Given the description of an element on the screen output the (x, y) to click on. 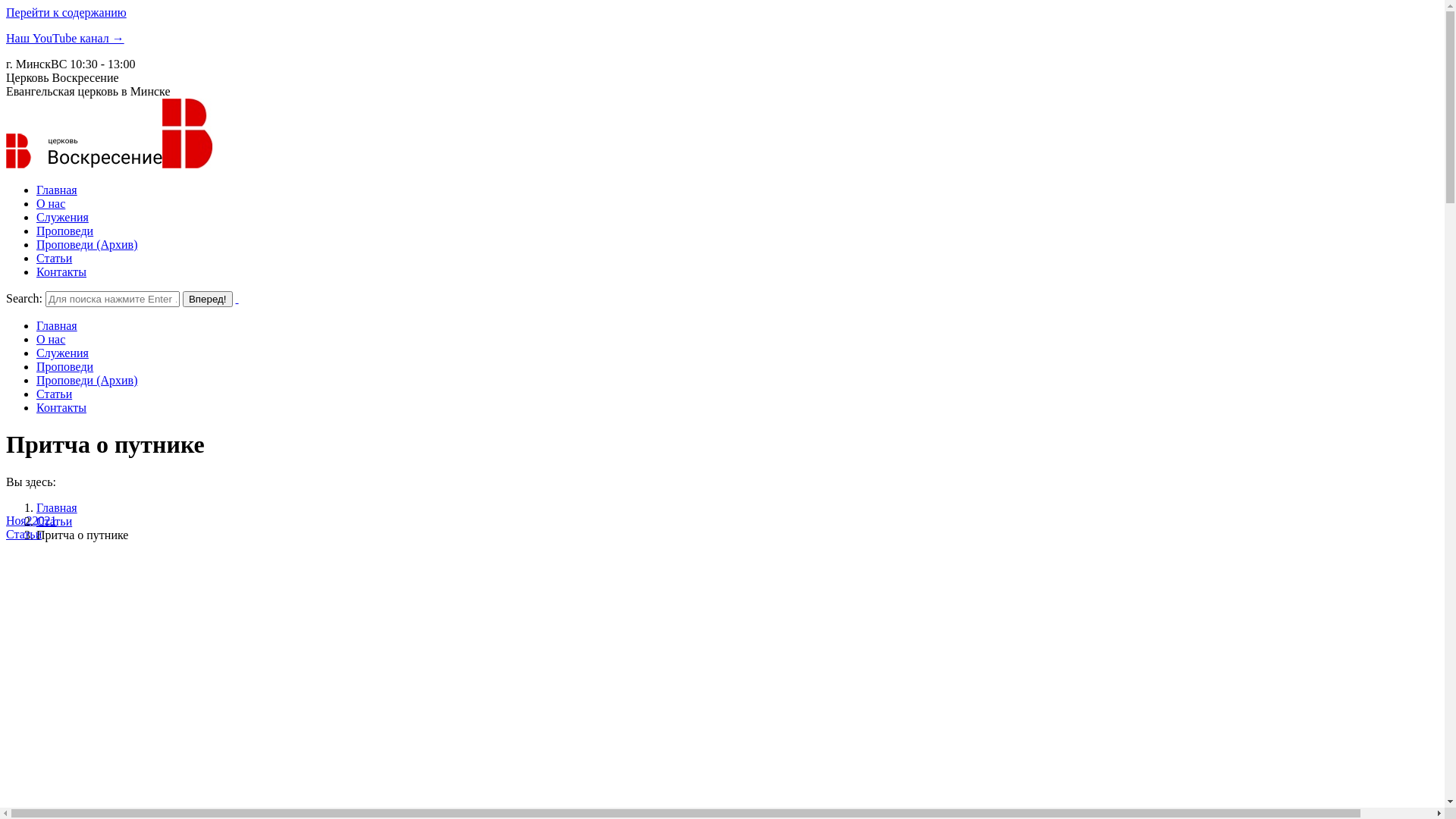
  Element type: text (236, 297)
